Given the description of an element on the screen output the (x, y) to click on. 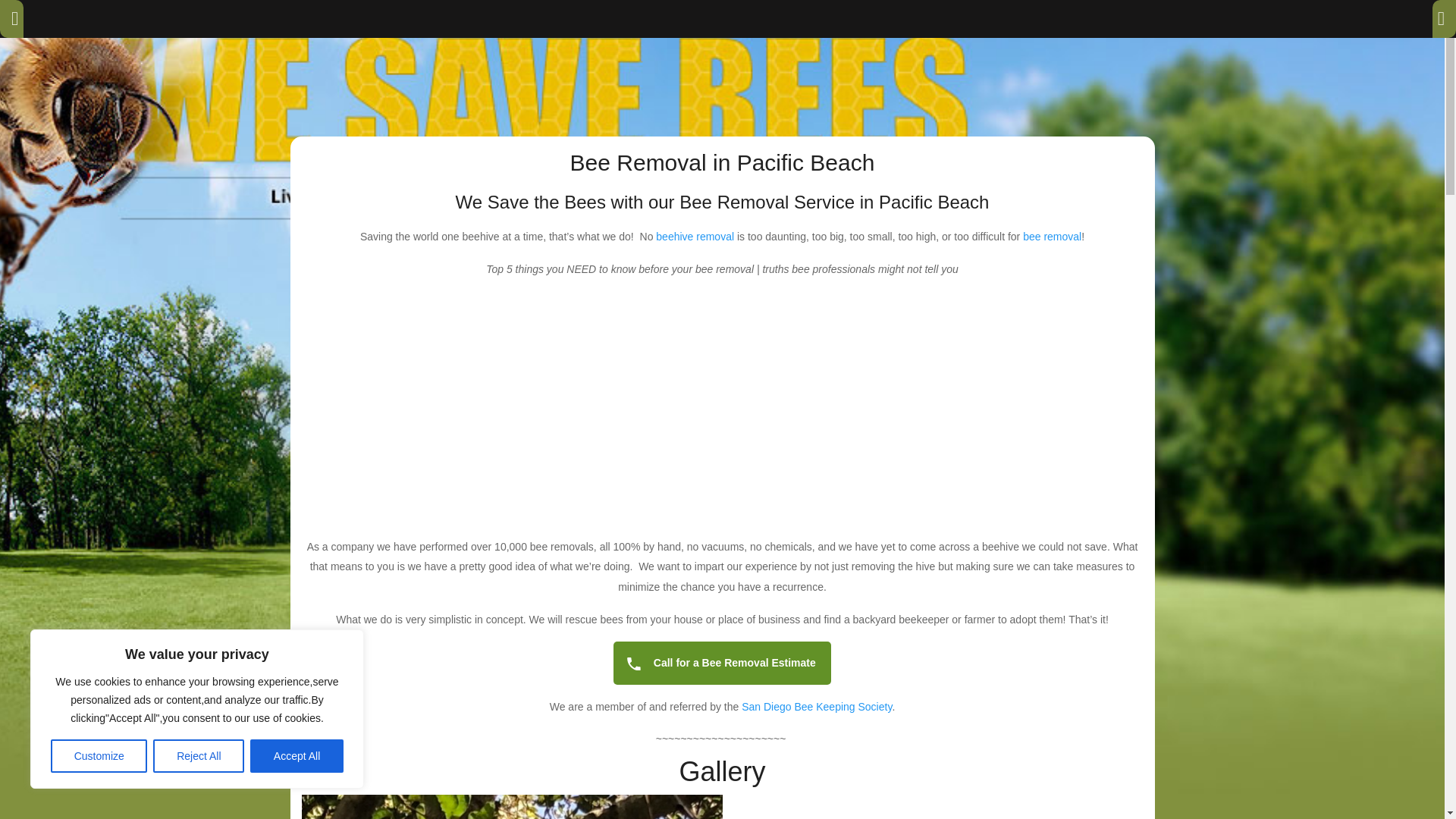
Customize (98, 756)
Reject All (198, 756)
Accept All (296, 756)
YouTube video player (721, 410)
